Given the description of an element on the screen output the (x, y) to click on. 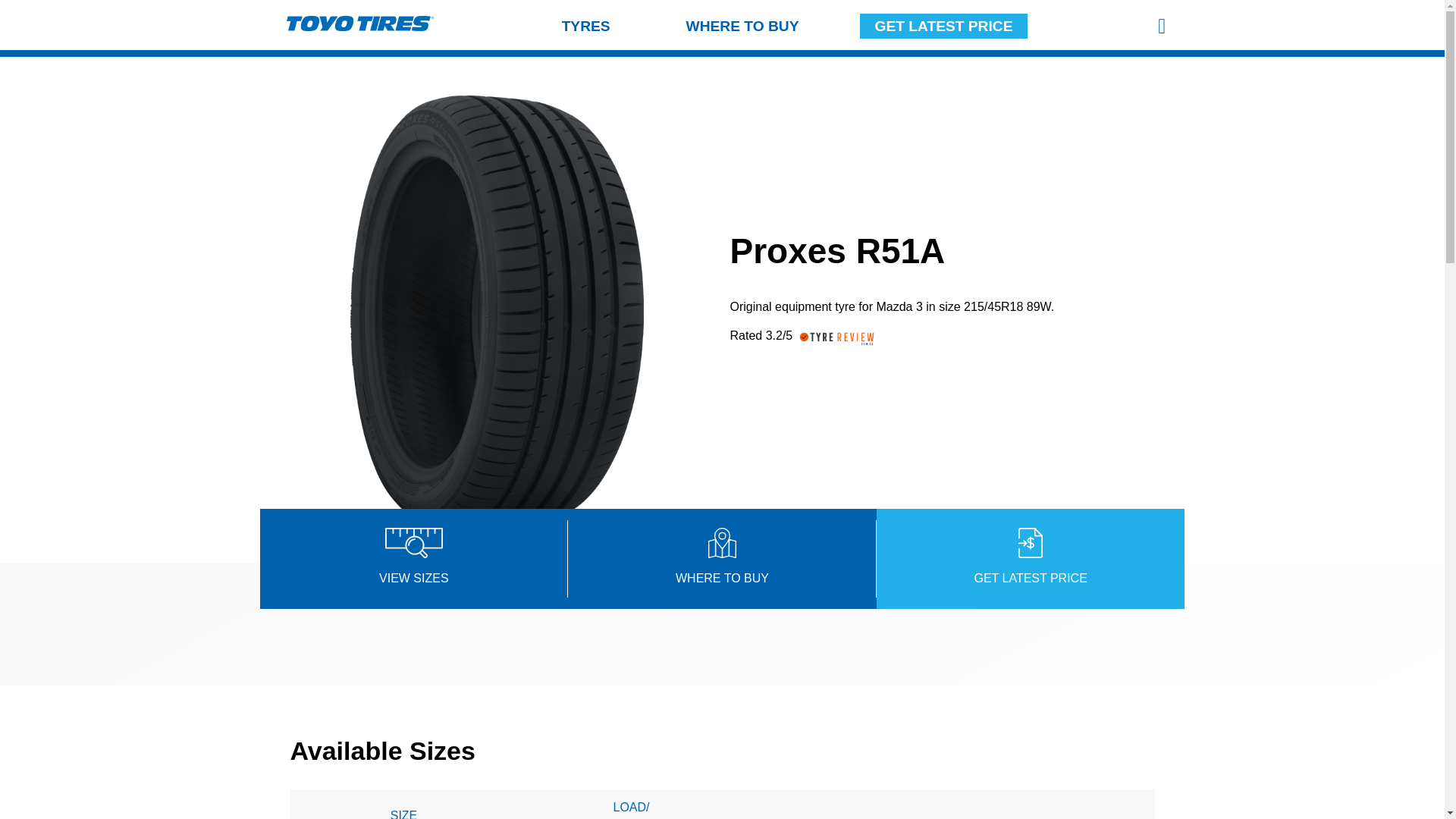
TYRES (586, 25)
Toyo Proxes R51A Reviews on Tyre Review (842, 342)
WHERE TO BUY (742, 25)
